Given the description of an element on the screen output the (x, y) to click on. 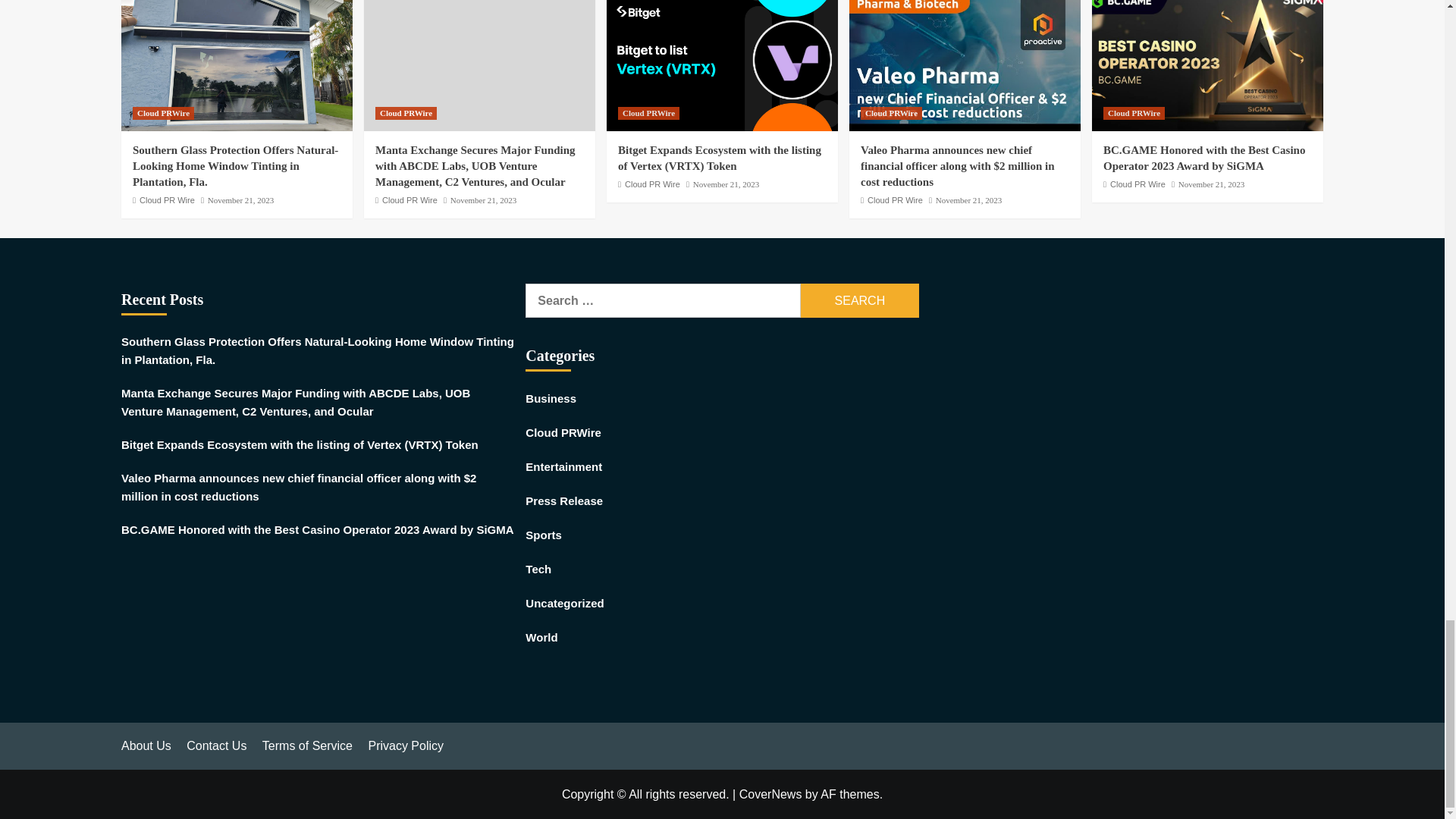
Search (859, 300)
Search (859, 300)
